Given the description of an element on the screen output the (x, y) to click on. 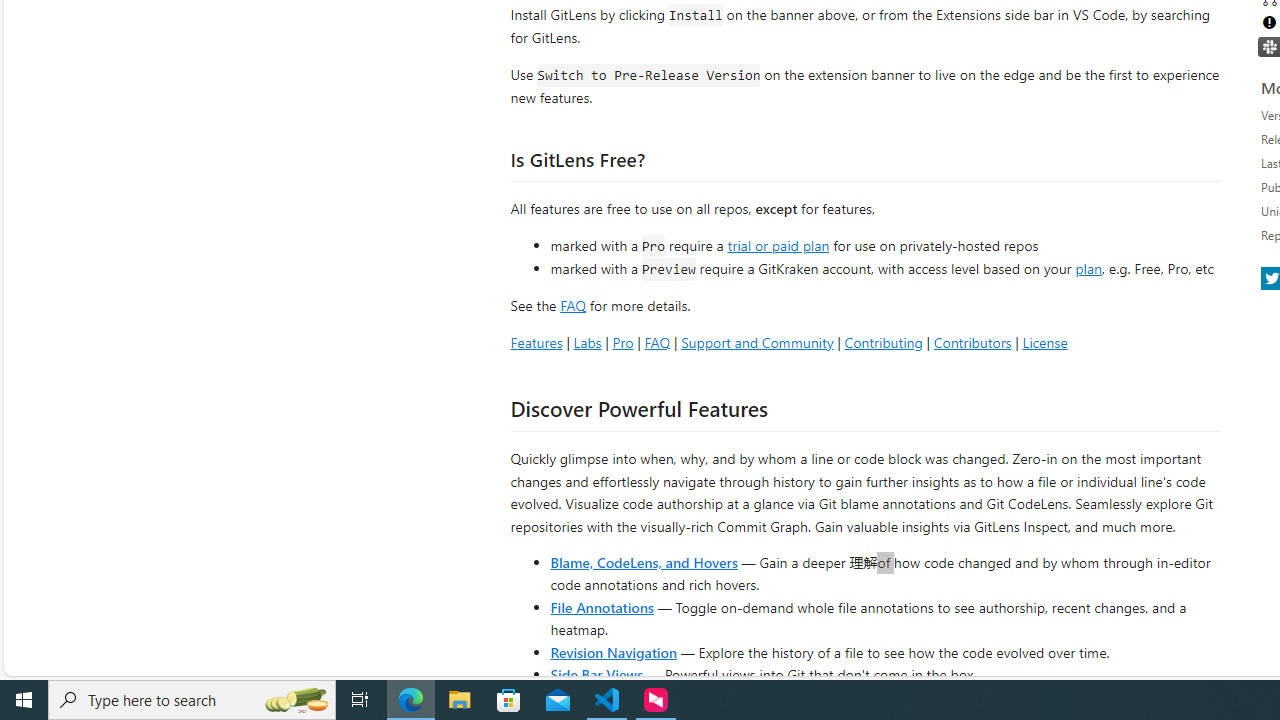
trial or paid plan (778, 244)
Blame, CodeLens, and Hovers (644, 561)
Revision Navigation (613, 651)
License (1044, 341)
Support and Community (757, 341)
Features (536, 341)
Labs (587, 341)
Contributors (972, 341)
plan (1088, 269)
Side Bar Views (596, 673)
